Given the description of an element on the screen output the (x, y) to click on. 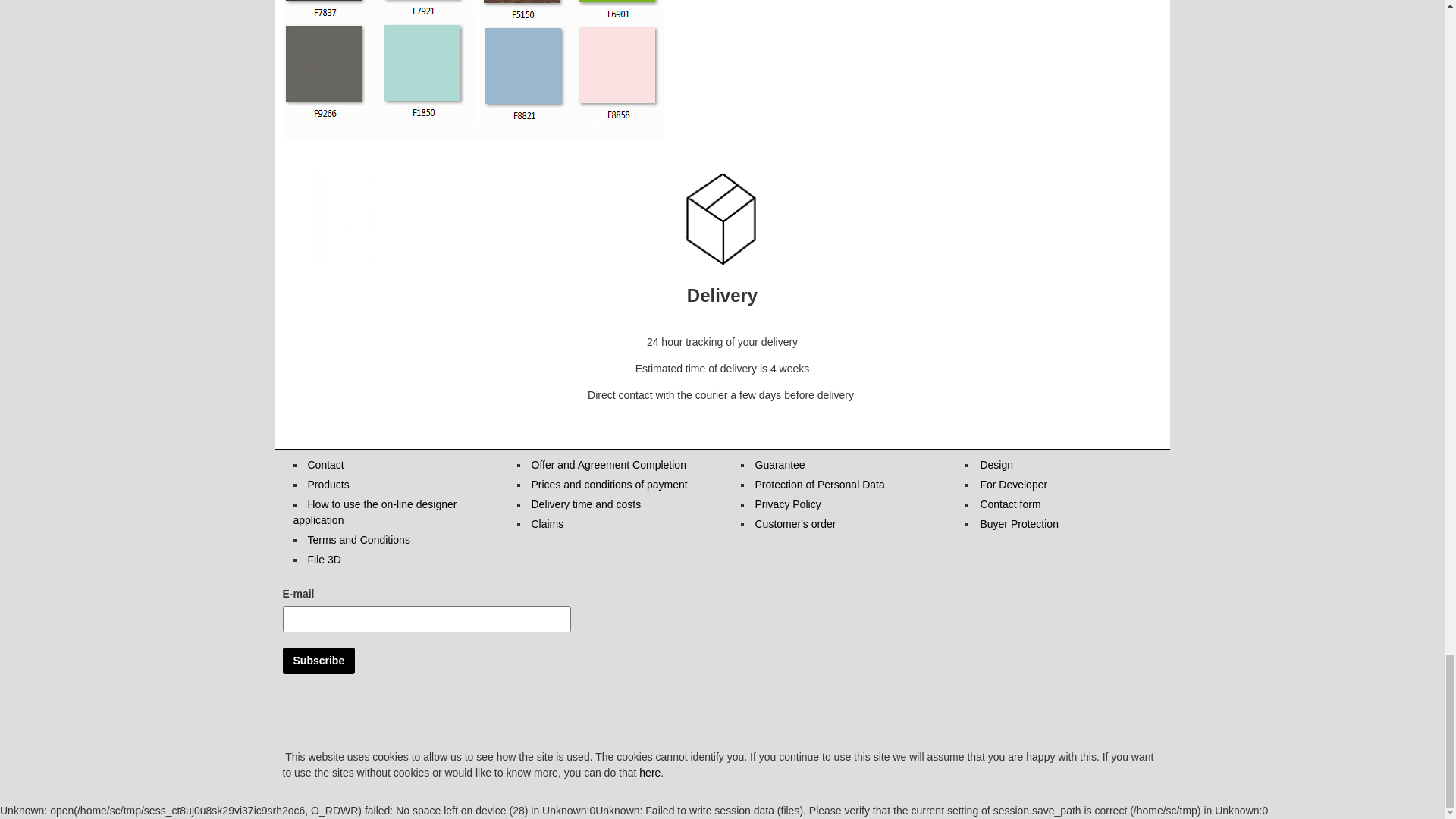
How to use the on-line designer application (374, 511)
Offer and Agreement Completion (608, 464)
Terms and Conditions (358, 539)
File 3D (323, 559)
Contact (325, 464)
Products (328, 484)
